Given the description of an element on the screen output the (x, y) to click on. 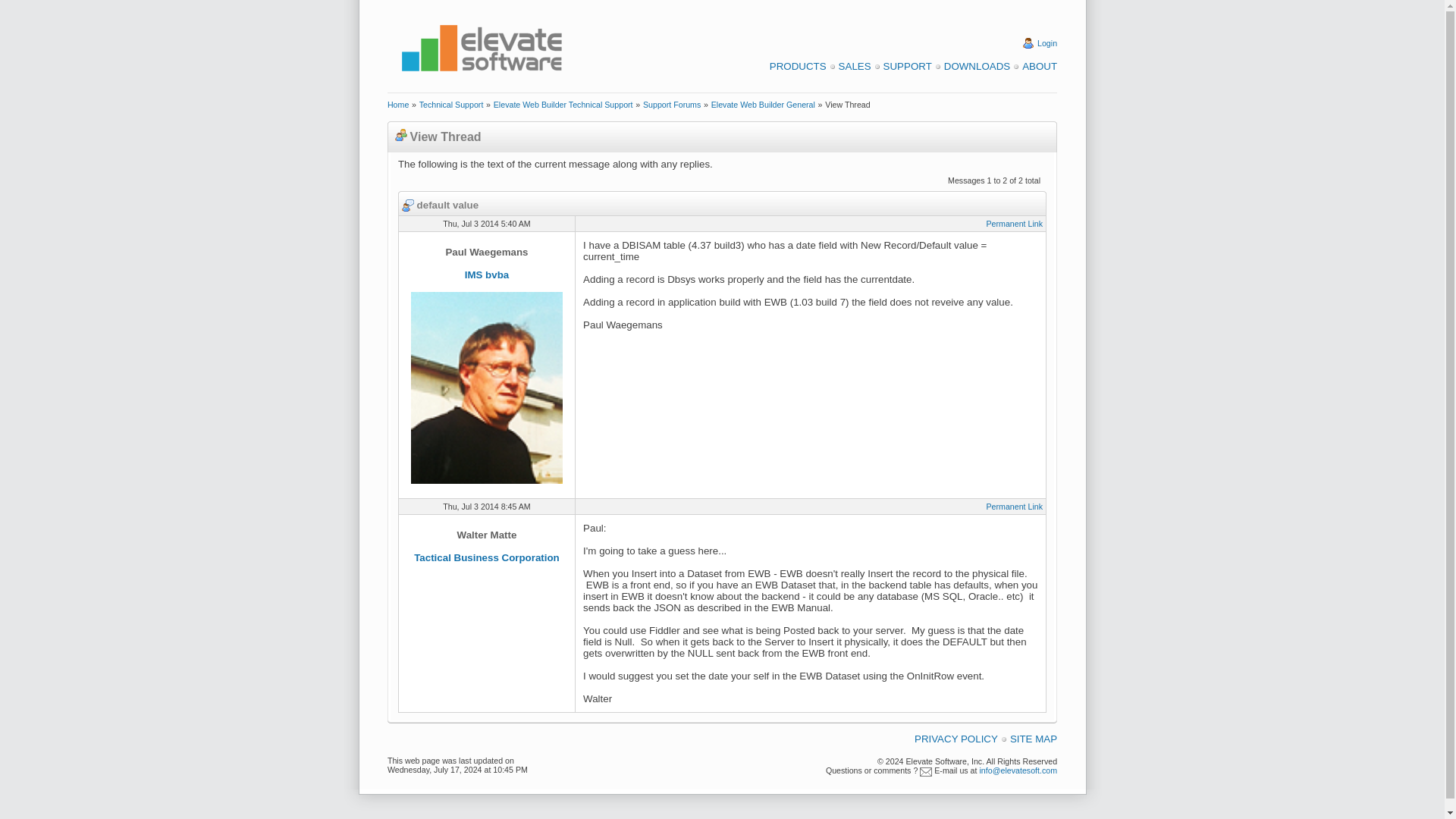
Permanent Link (1013, 223)
SALES (854, 66)
Home (398, 103)
Permanent Link (1013, 506)
Elevate Web Builder Technical Support (563, 103)
Login (1046, 42)
DOWNLOADS (976, 66)
PRIVACY POLICY (955, 738)
ABOUT (1039, 66)
Support Forums (671, 103)
Thu, Jul 3 2014 5:40 AM (486, 223)
SITE MAP (1033, 738)
Thu, Jul 3 2014 8:45 AM (486, 505)
 default value (440, 204)
IMS bvba (486, 274)
